Given the description of an element on the screen output the (x, y) to click on. 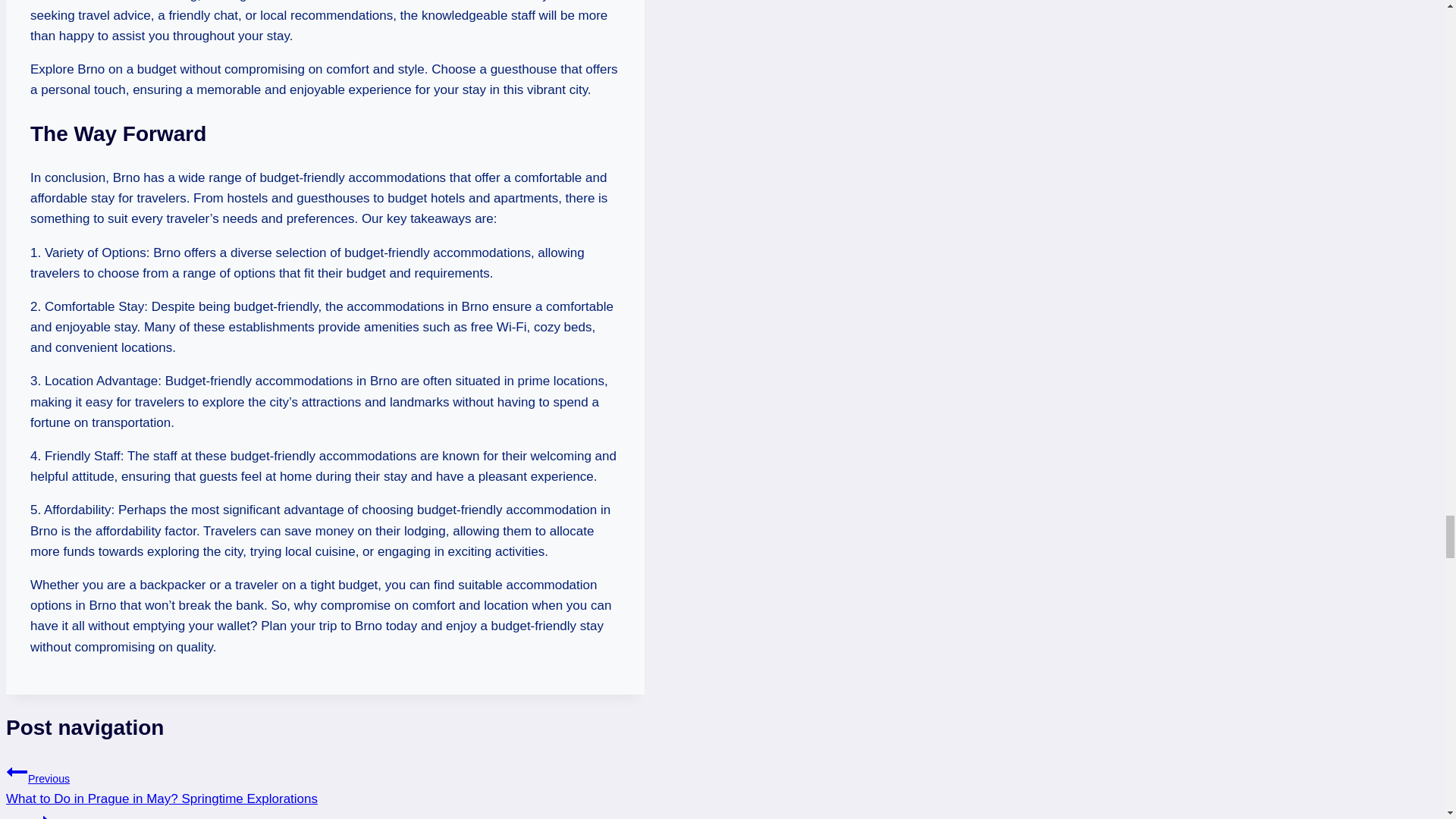
Continue (37, 814)
Previous (16, 771)
